Given the description of an element on the screen output the (x, y) to click on. 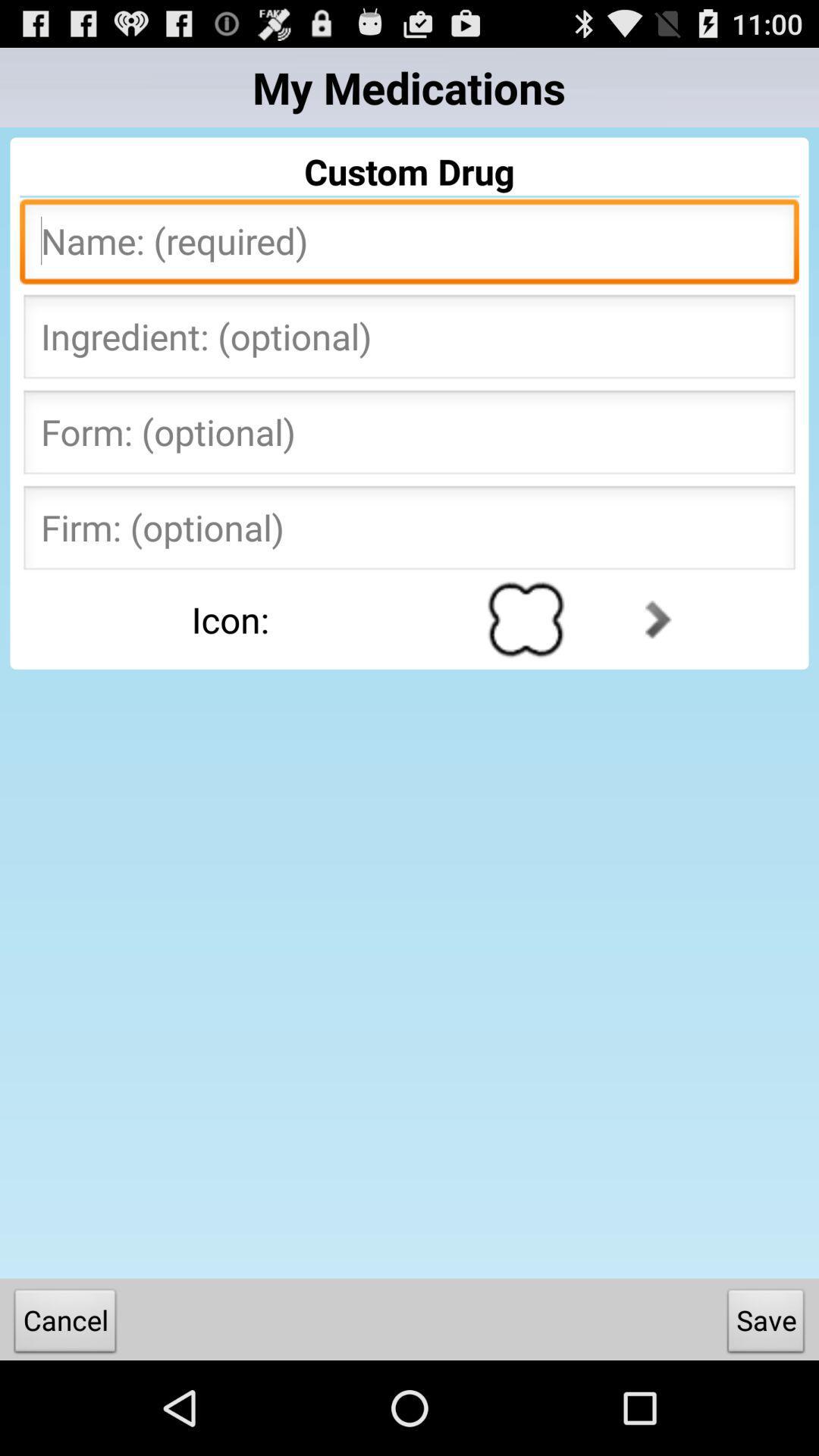
launch item next to the cancel item (765, 1324)
